Given the description of an element on the screen output the (x, y) to click on. 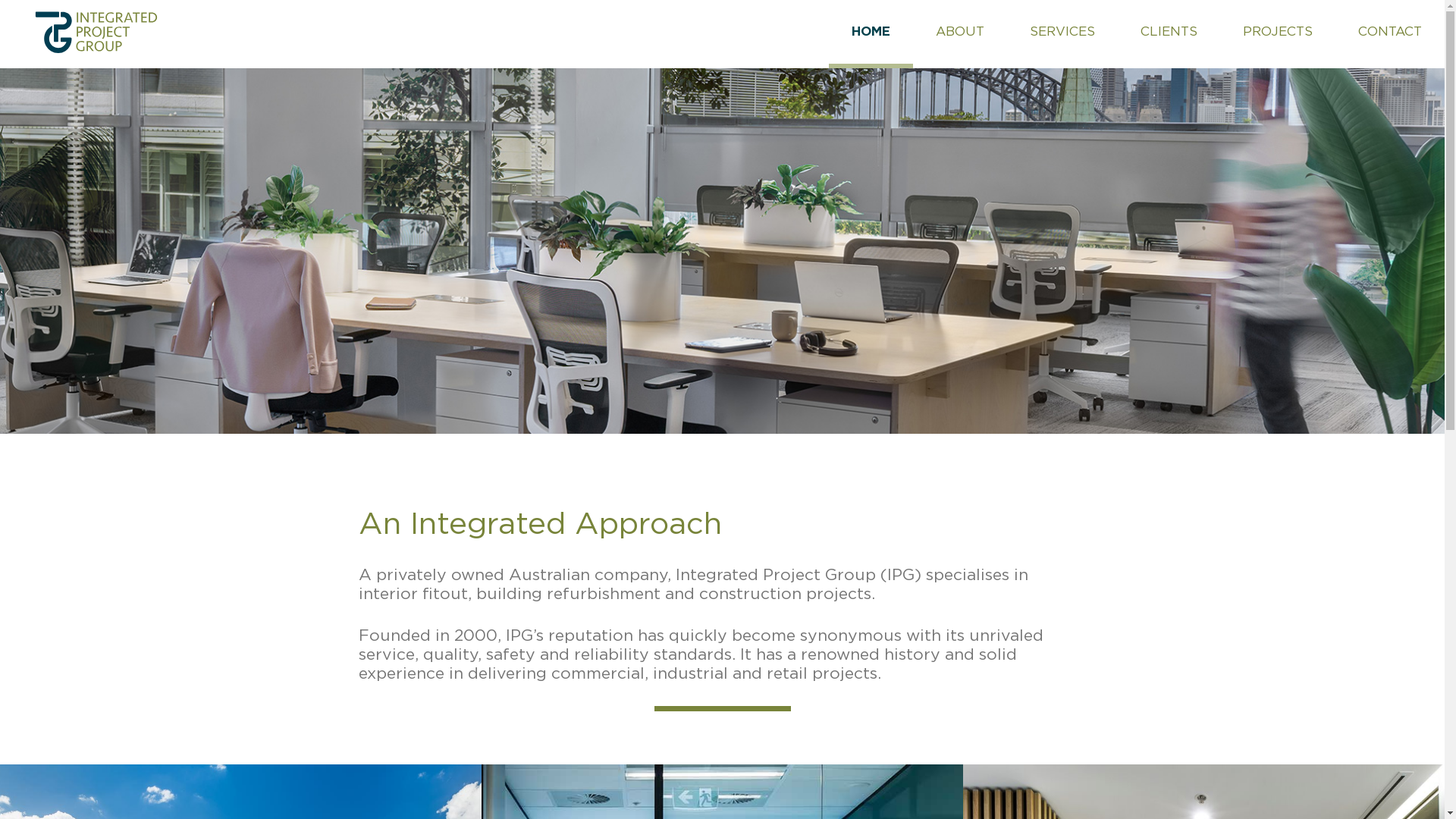
CONTACT Element type: text (1389, 31)
PROJECTS Element type: text (1277, 31)
HOME Element type: text (870, 34)
CLIENTS Element type: text (1168, 31)
ABOUT Element type: text (960, 31)
SERVICES Element type: text (1062, 31)
